Given the description of an element on the screen output the (x, y) to click on. 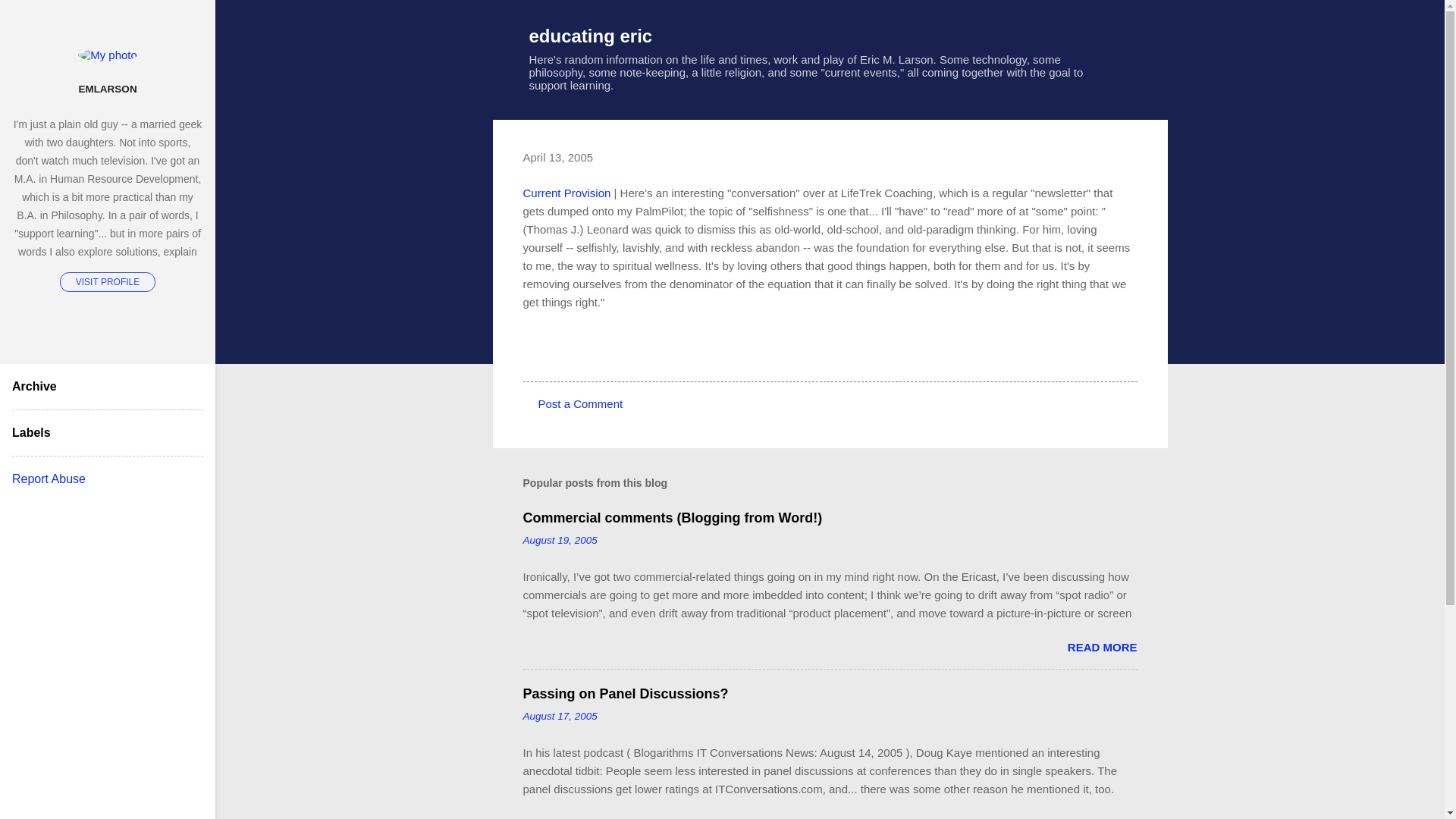
Email Post (562, 353)
August 17, 2005 (559, 715)
April 13, 2005 (558, 156)
August 19, 2005 (559, 540)
educating eric (590, 35)
VISIT PROFILE (107, 281)
permanent link (559, 540)
EMLARSON (107, 88)
Current Provision (566, 192)
Passing on Panel Discussions? (625, 693)
